Given the description of an element on the screen output the (x, y) to click on. 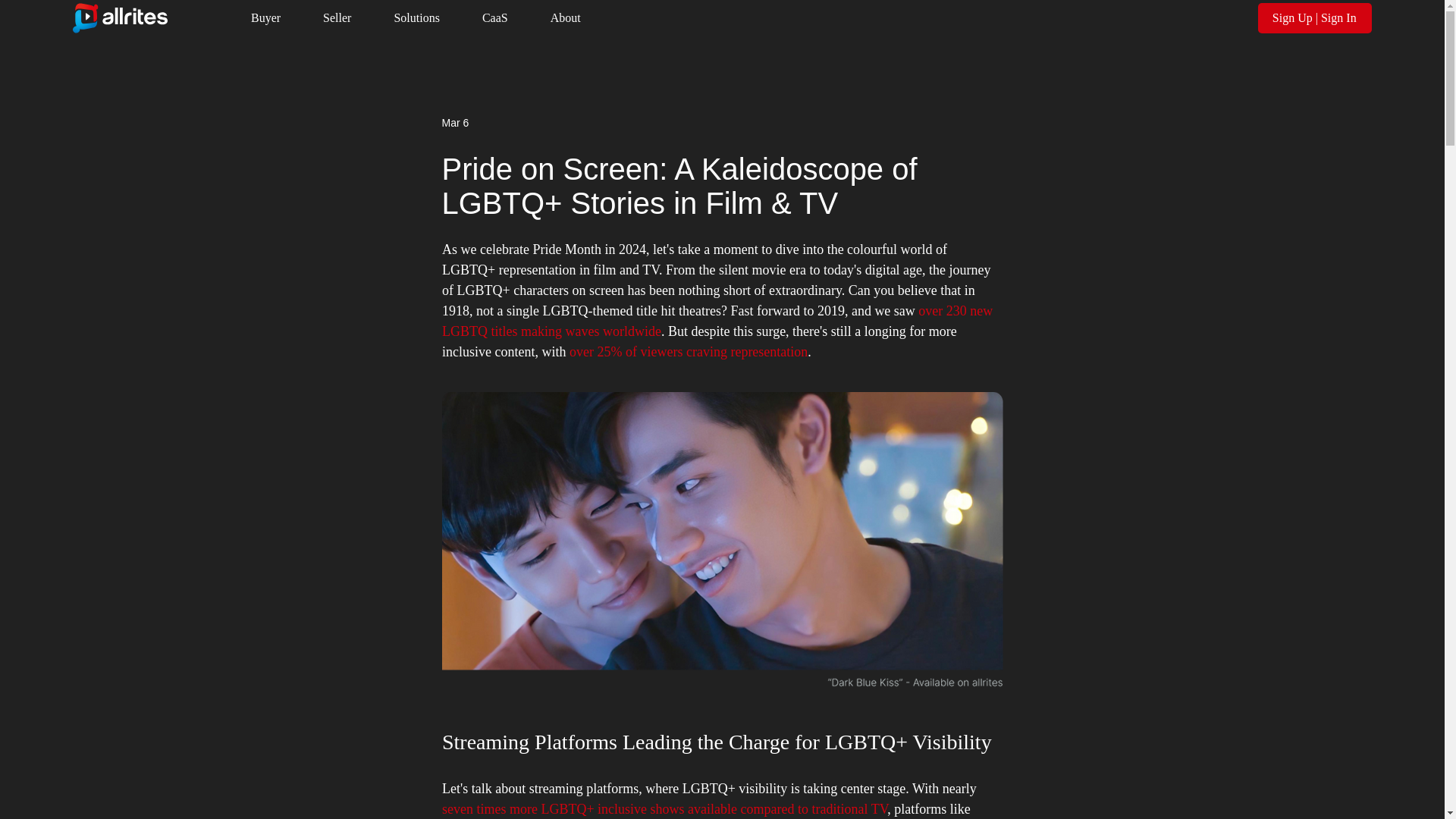
Mar 6 (454, 122)
CaaS (494, 18)
Seller (336, 18)
Buyer (265, 18)
Solutions (415, 18)
over 230 new LGBTQ titles making waves worldwide (718, 321)
